Given the description of an element on the screen output the (x, y) to click on. 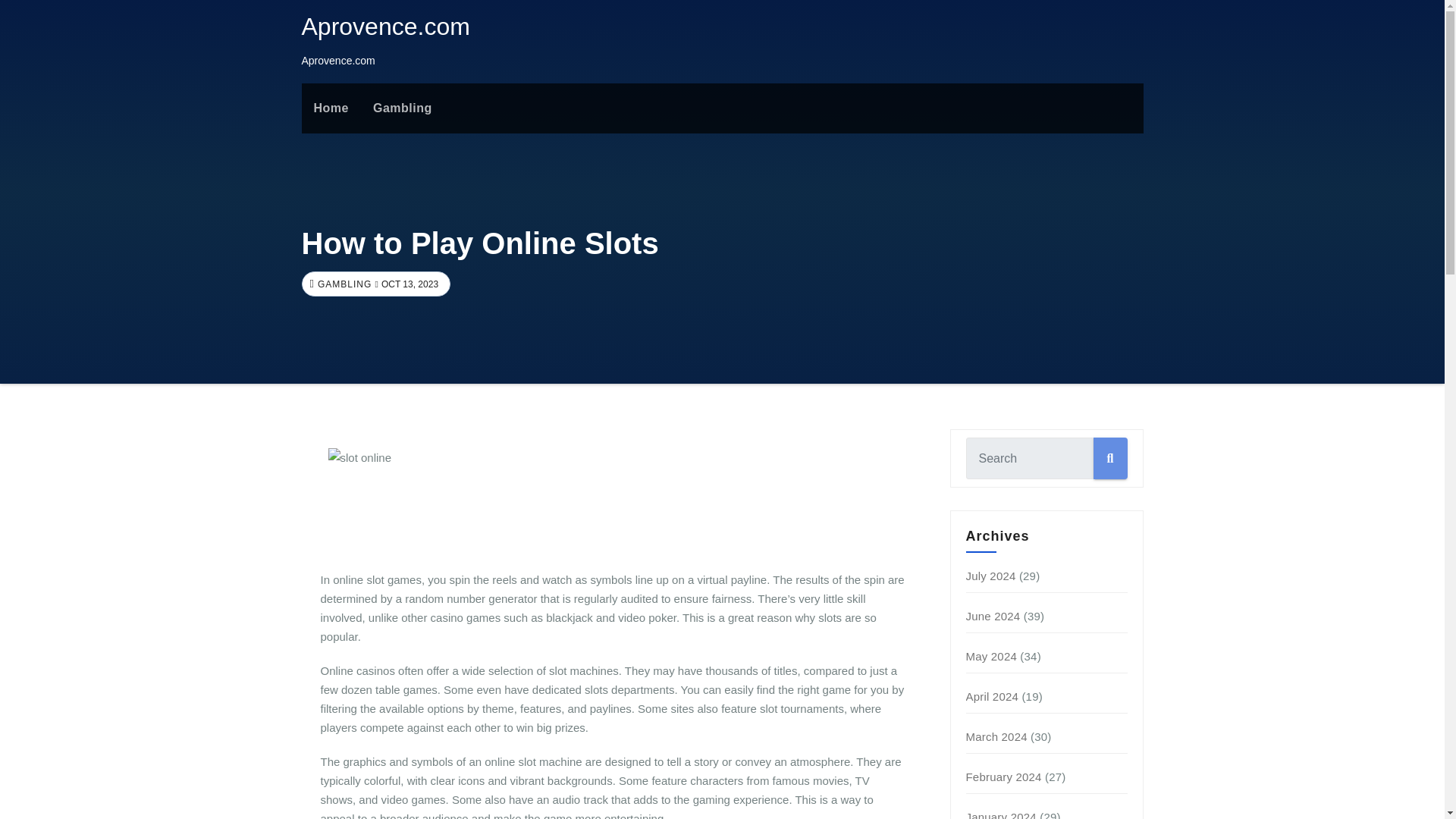
January 2024 (1001, 814)
Gambling (402, 108)
June 2024 (993, 615)
Home (331, 108)
March 2024 (996, 736)
Gambling (402, 108)
July 2024 (991, 575)
GAMBLING (342, 284)
Aprovence.com (385, 26)
April 2024 (992, 696)
May 2024 (991, 656)
Home (331, 108)
February 2024 (1004, 776)
